Given the description of an element on the screen output the (x, y) to click on. 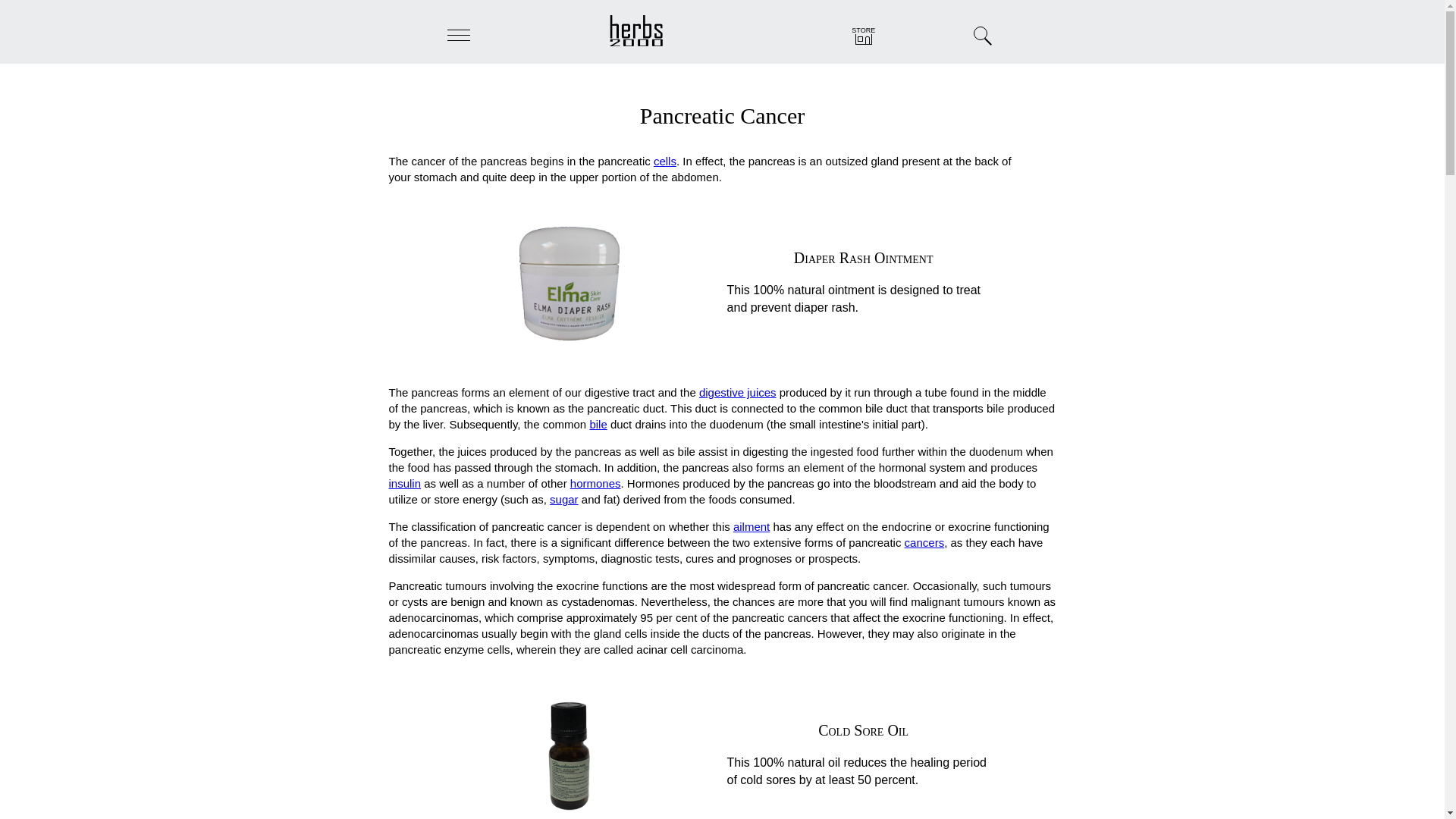
cells (665, 160)
sugar (564, 499)
insulin (404, 482)
ailment (751, 526)
bile (598, 423)
hormones (595, 482)
cancers (924, 542)
digestive juices (737, 391)
